Given the description of an element on the screen output the (x, y) to click on. 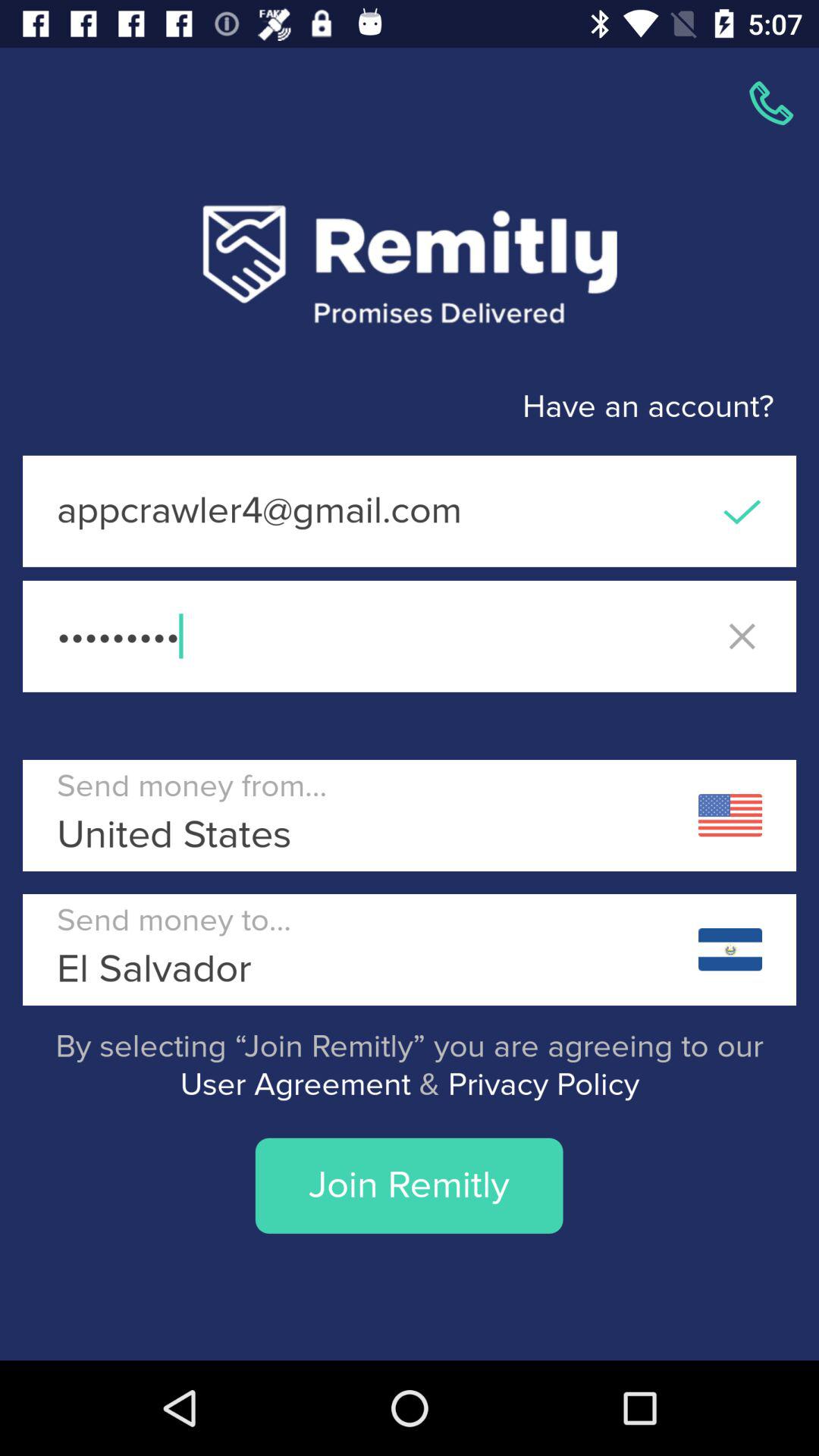
jump to the appcrawler4@gmail.com item (409, 511)
